Given the description of an element on the screen output the (x, y) to click on. 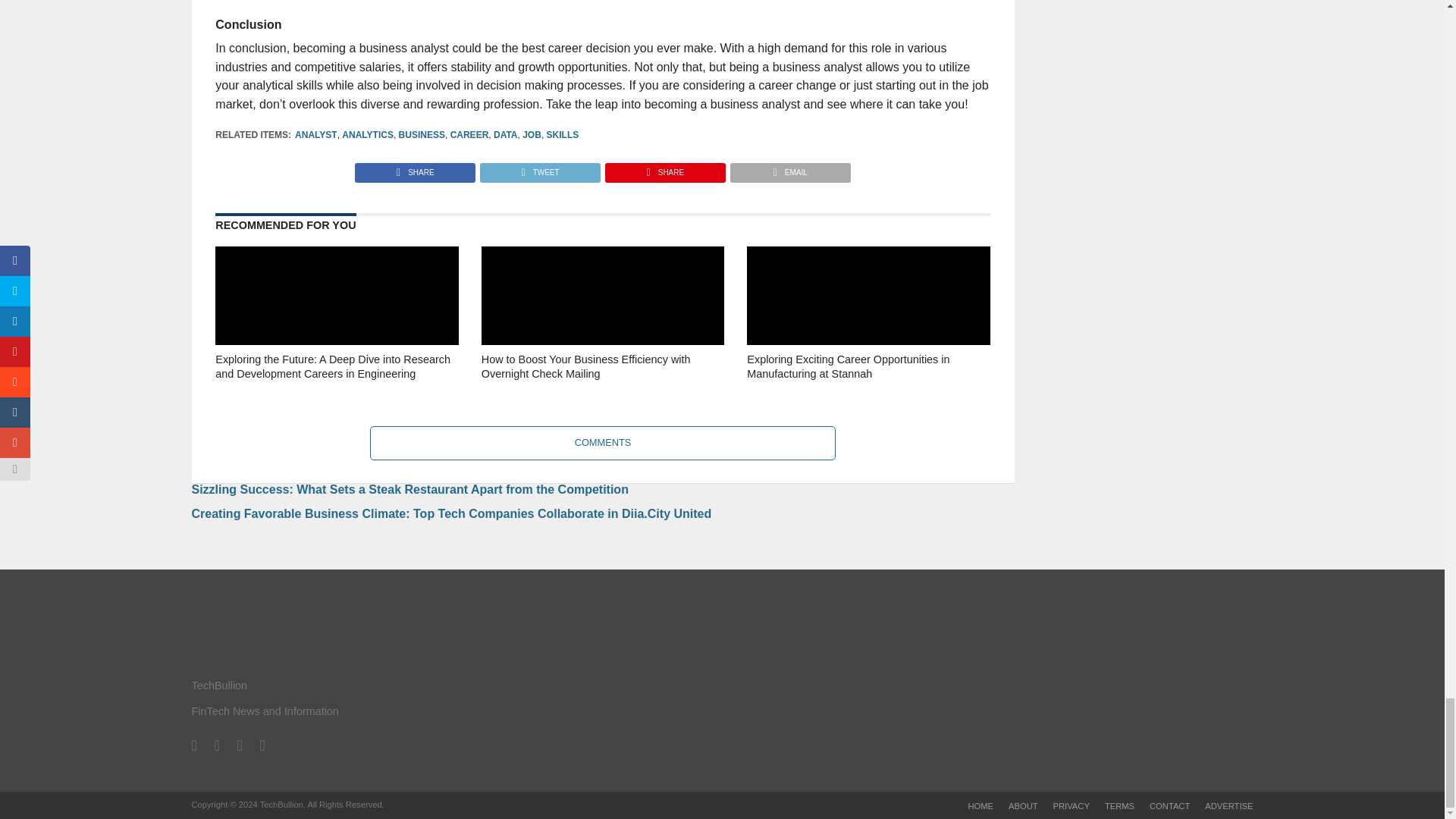
Tweet This Post (539, 168)
Pin This Post (664, 168)
Share on Facebook (415, 168)
